Given the description of an element on the screen output the (x, y) to click on. 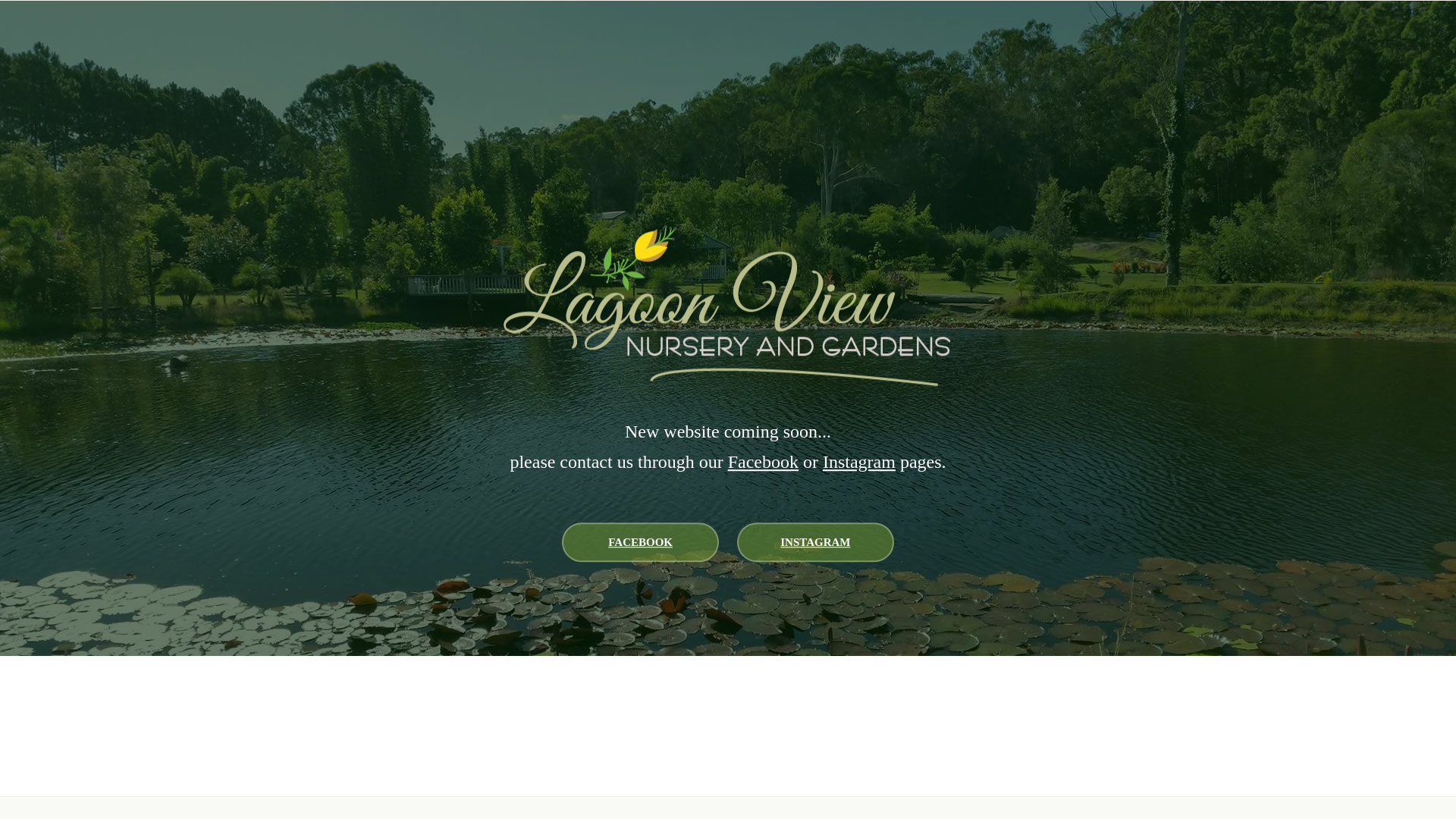
Instagram Element type: text (858, 461)
INSTAGRAM Element type: text (815, 541)
Facebook Element type: text (763, 461)
FACEBOOK Element type: text (639, 541)
